Given the description of an element on the screen output the (x, y) to click on. 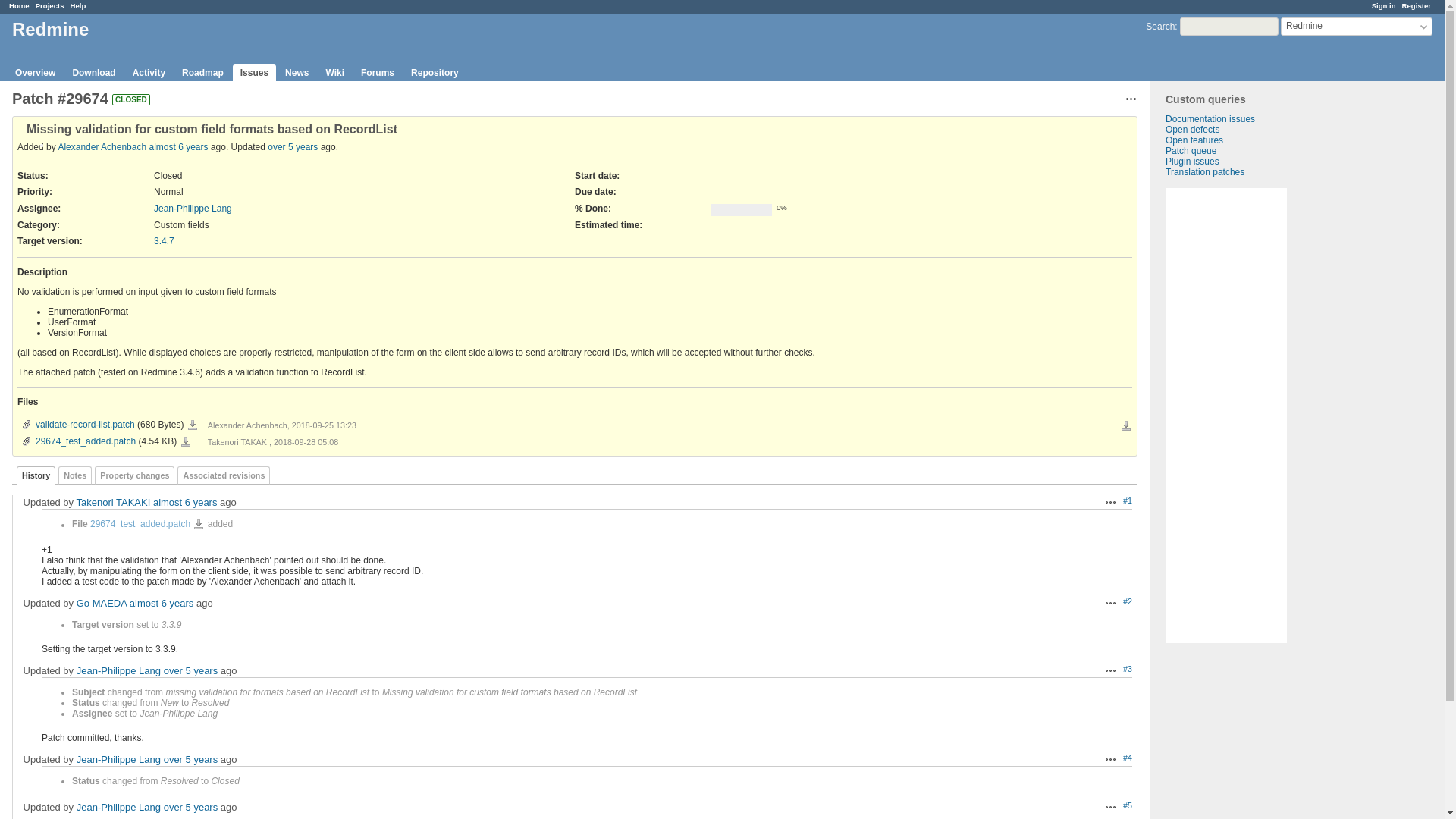
Plugin issues (1193, 161)
Associated revisions (223, 475)
2018-11-29 20:10 (292, 146)
Activity (149, 72)
2018-09-28 05:08 (184, 501)
Jean-Philippe Lang (192, 208)
Home (18, 5)
validate-record-list.patch (192, 425)
Documentation issues (1210, 118)
Notes (74, 475)
validate-record-list.patch (77, 424)
2018-09-25 13:24 (178, 146)
Alexander Achenbach (102, 146)
over 5 years (292, 146)
Patch queue (1190, 150)
